Given the description of an element on the screen output the (x, y) to click on. 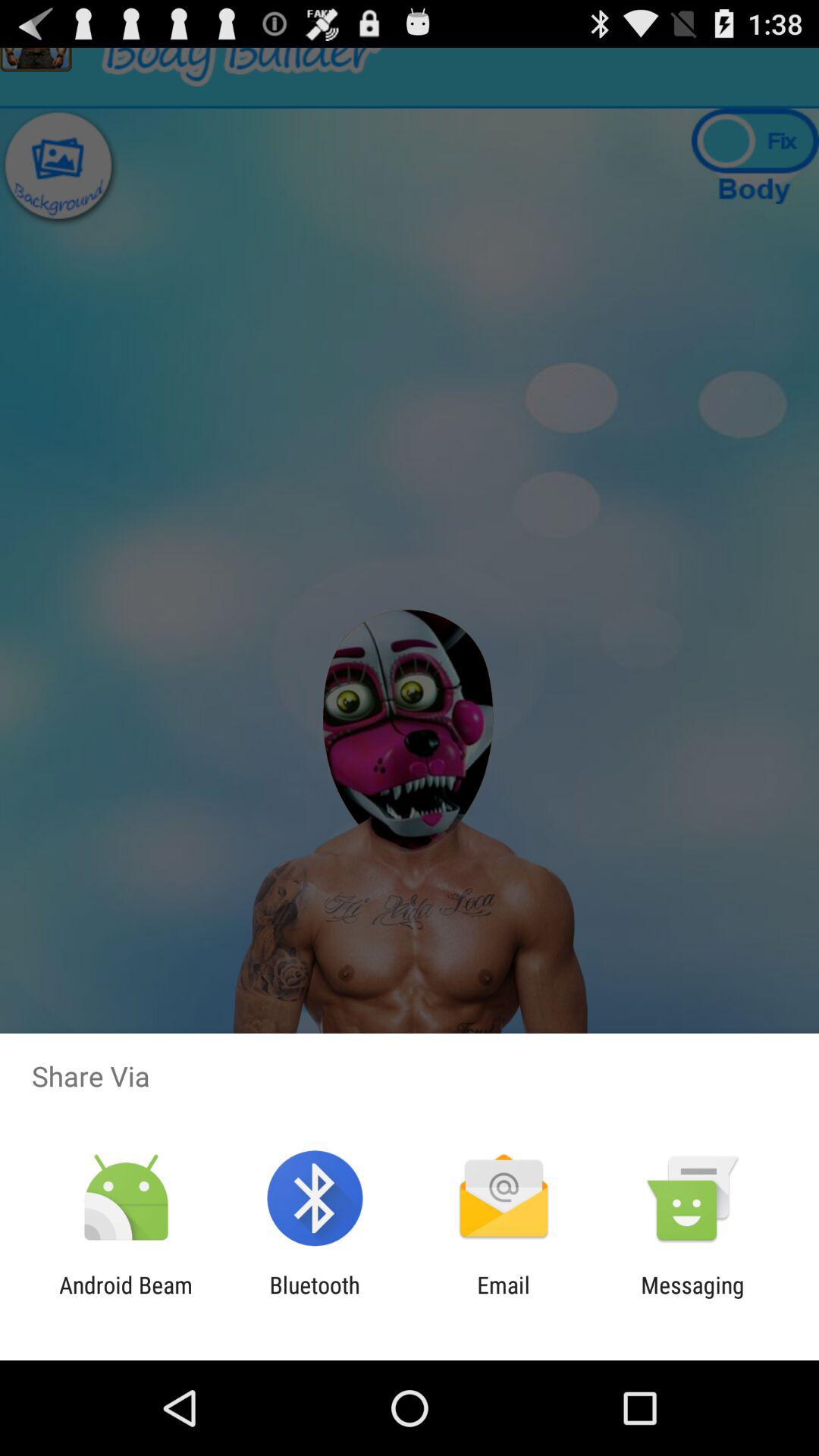
swipe until messaging icon (692, 1298)
